Given the description of an element on the screen output the (x, y) to click on. 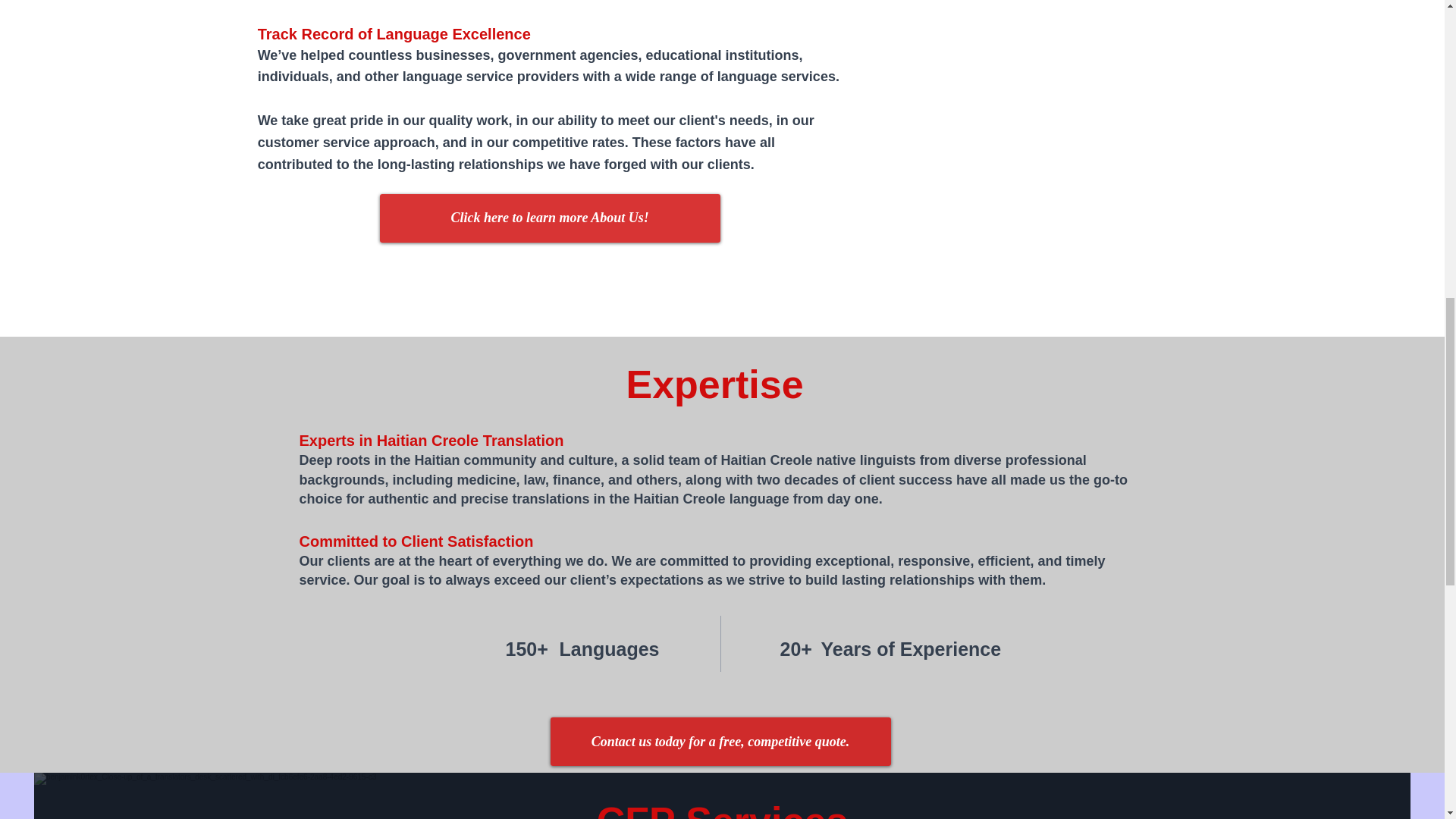
Contact us today for a free, competitive quote. (720, 741)
Click here to learn more About Us! (550, 218)
